Given the description of an element on the screen output the (x, y) to click on. 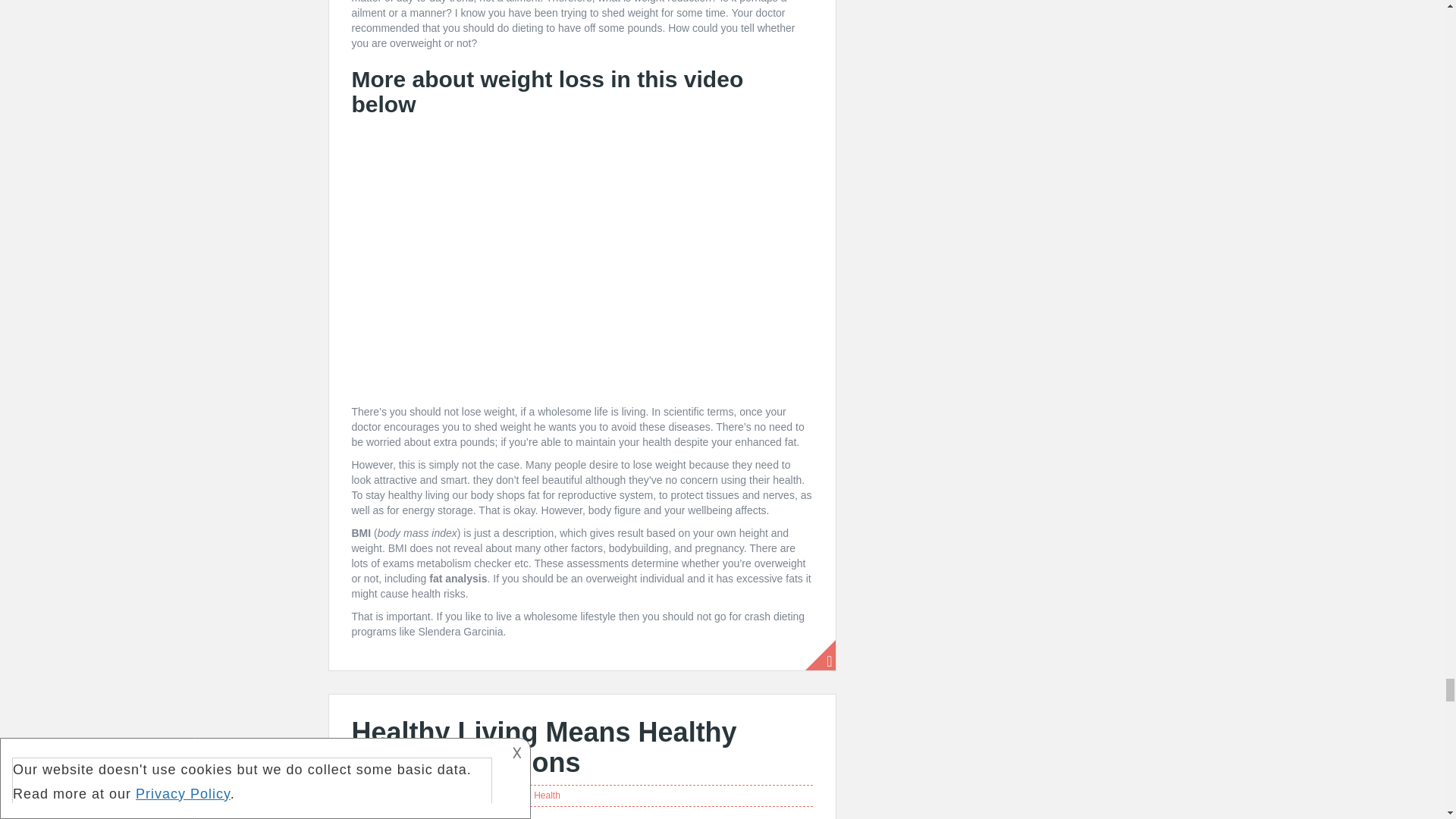
Weight Loss Talk: Understanding the Basics. (582, 260)
